Given the description of an element on the screen output the (x, y) to click on. 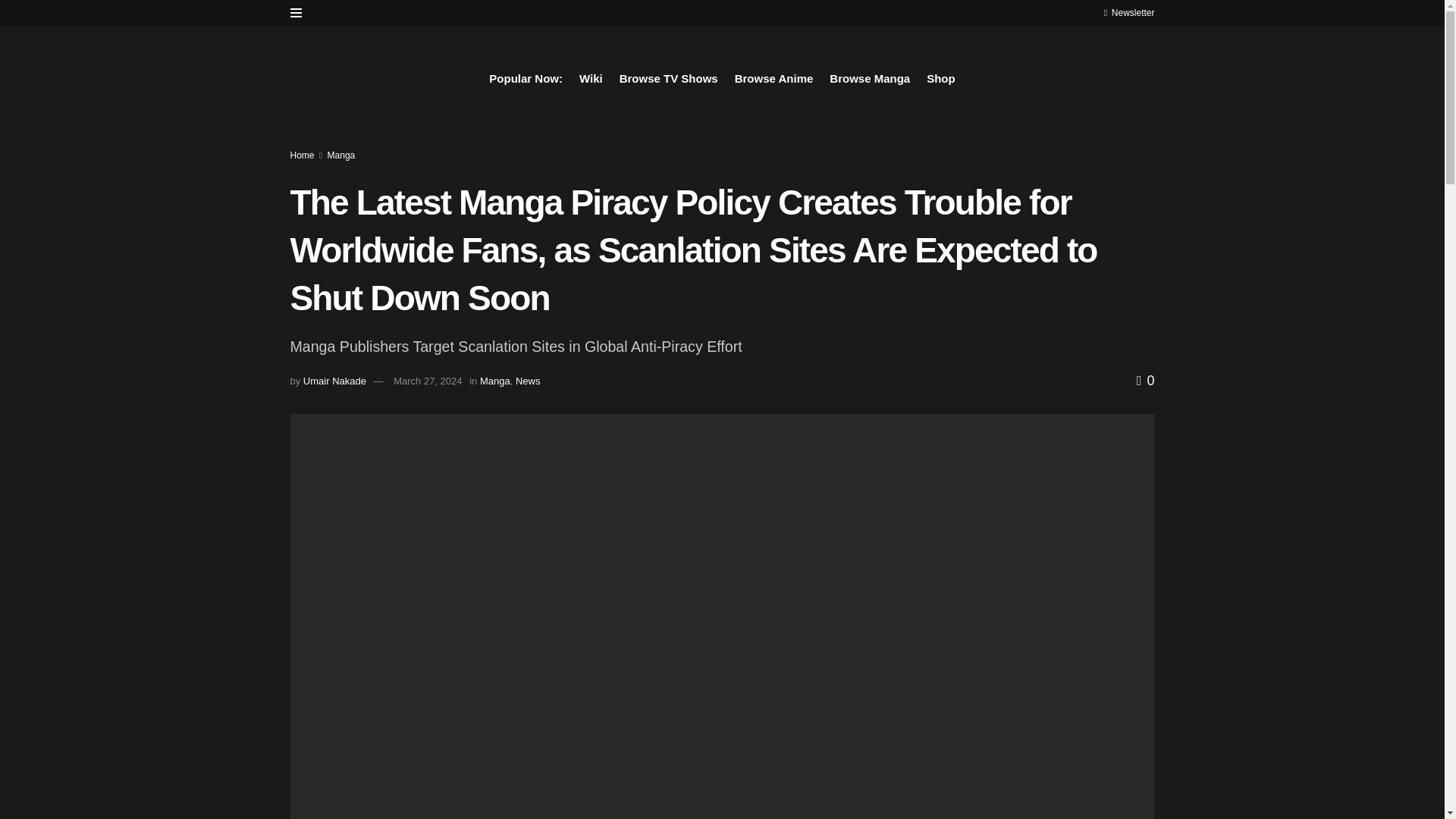
News (527, 380)
Home (301, 154)
Umair Nakade (334, 380)
Manga (341, 154)
Newsletter (1128, 12)
Browse Anime (774, 78)
Popular Now: (525, 78)
March 27, 2024 (427, 380)
Manga (495, 380)
Browse Manga (869, 78)
